Given the description of an element on the screen output the (x, y) to click on. 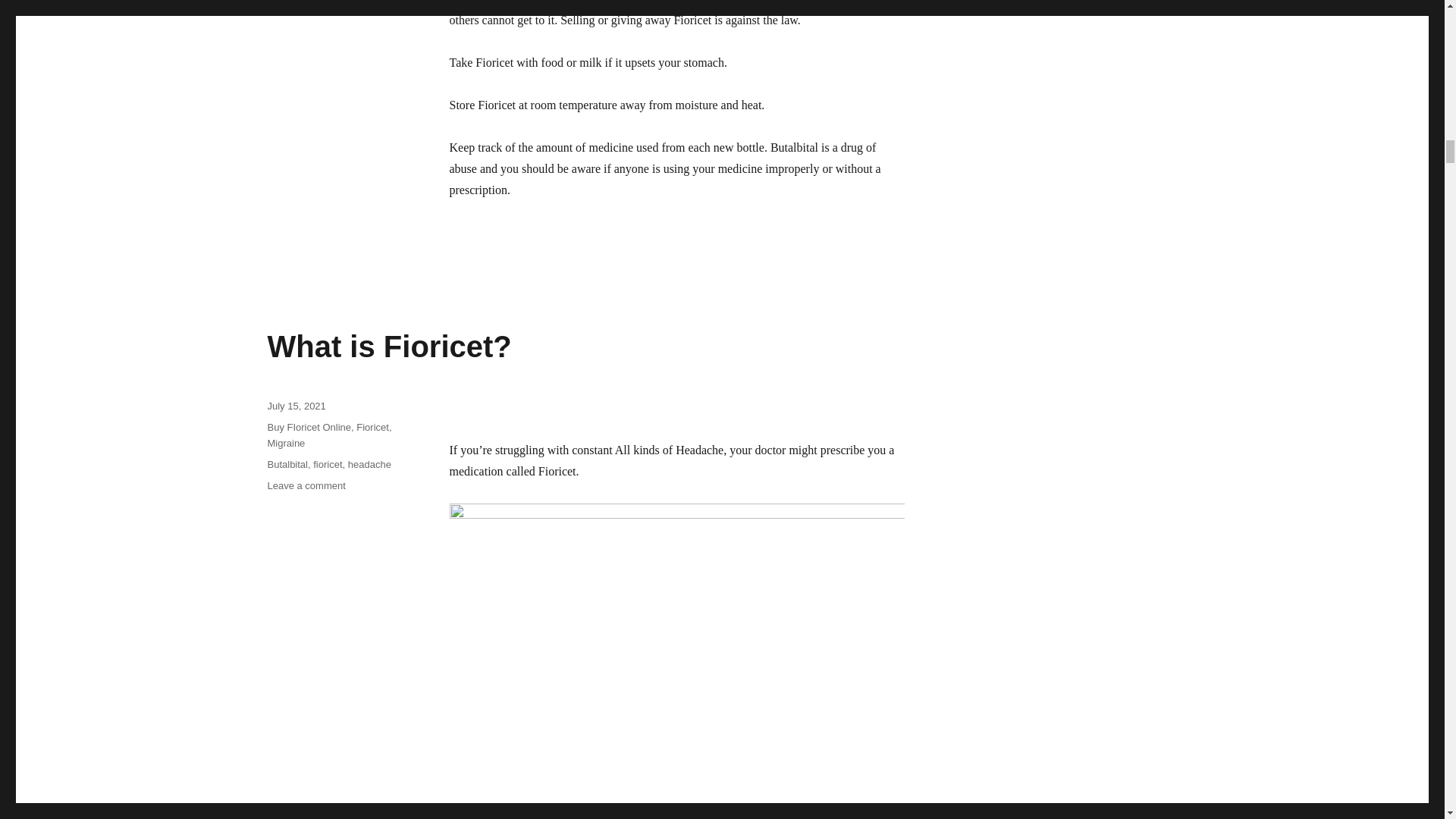
Buy FIoricet Online (308, 427)
What is Fioricet? (388, 346)
July 15, 2021 (295, 405)
